Given the description of an element on the screen output the (x, y) to click on. 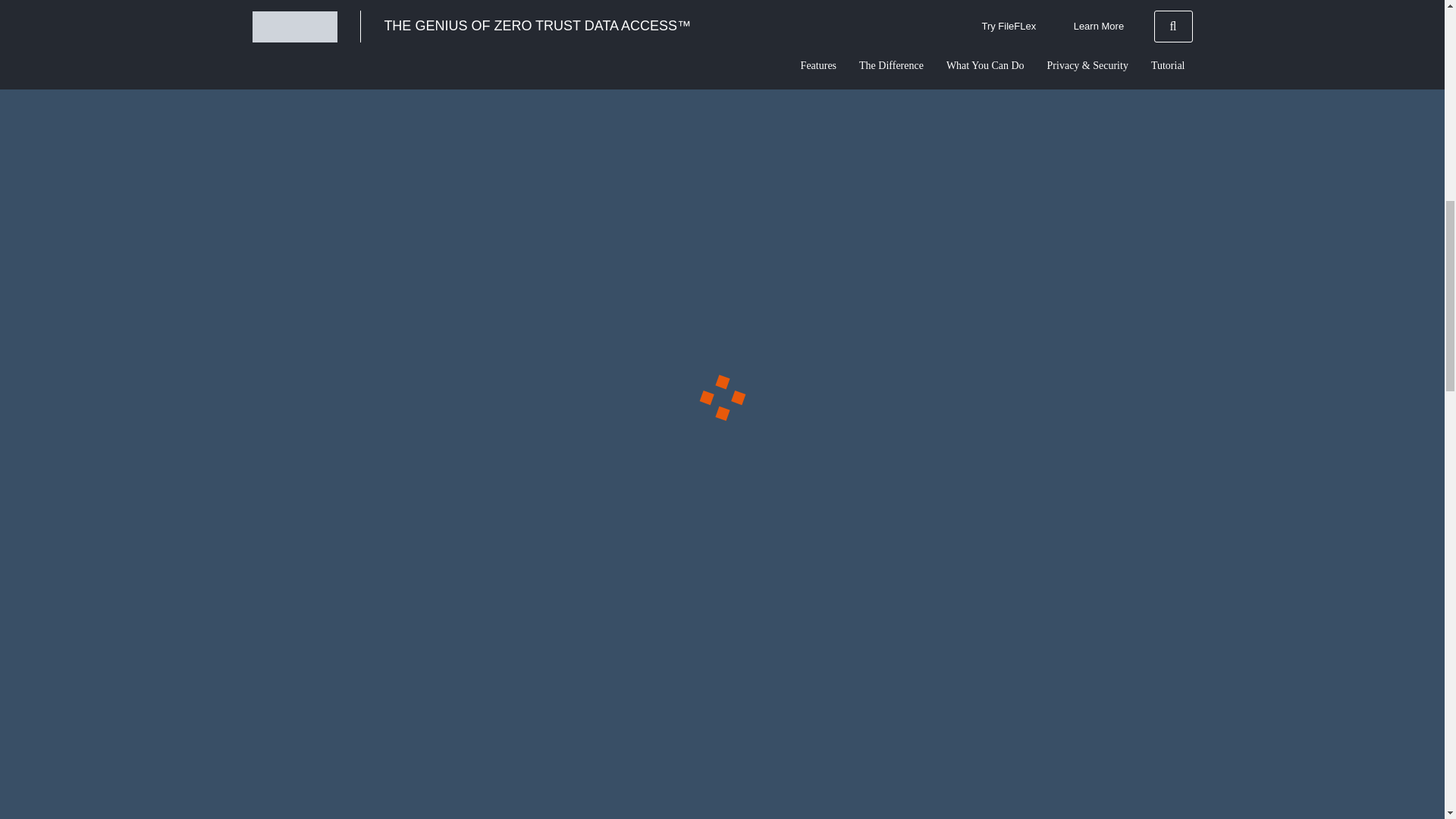
The FileFlex Difference (815, 660)
Remote Access Features (355, 209)
